Given the description of an element on the screen output the (x, y) to click on. 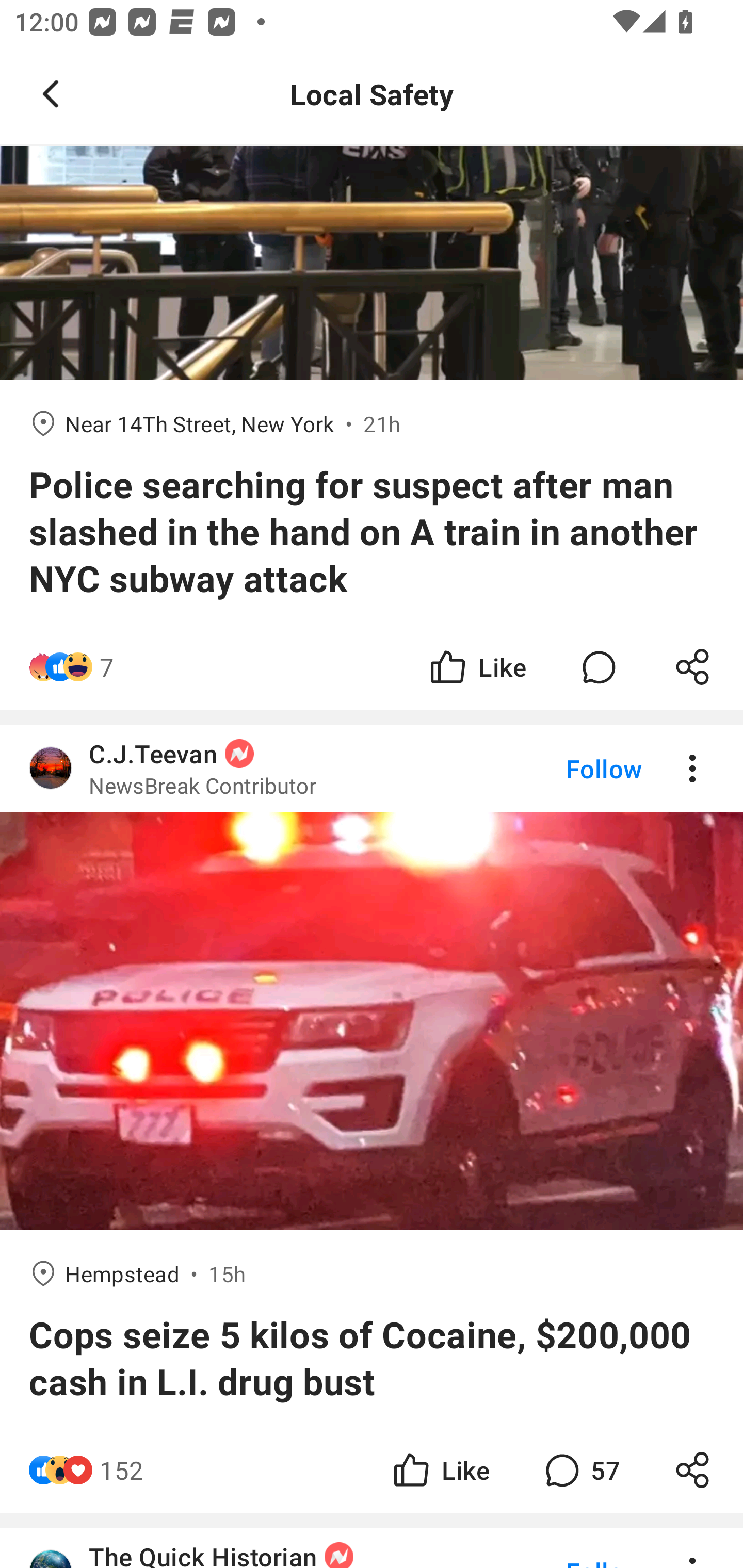
Navigate up (50, 93)
7 (106, 667)
Like (476, 667)
C.J.Teevan NewsBreak Contributor Follow (371, 768)
Follow (569, 768)
152 (121, 1469)
Like (439, 1469)
57 (579, 1469)
